Given the description of an element on the screen output the (x, y) to click on. 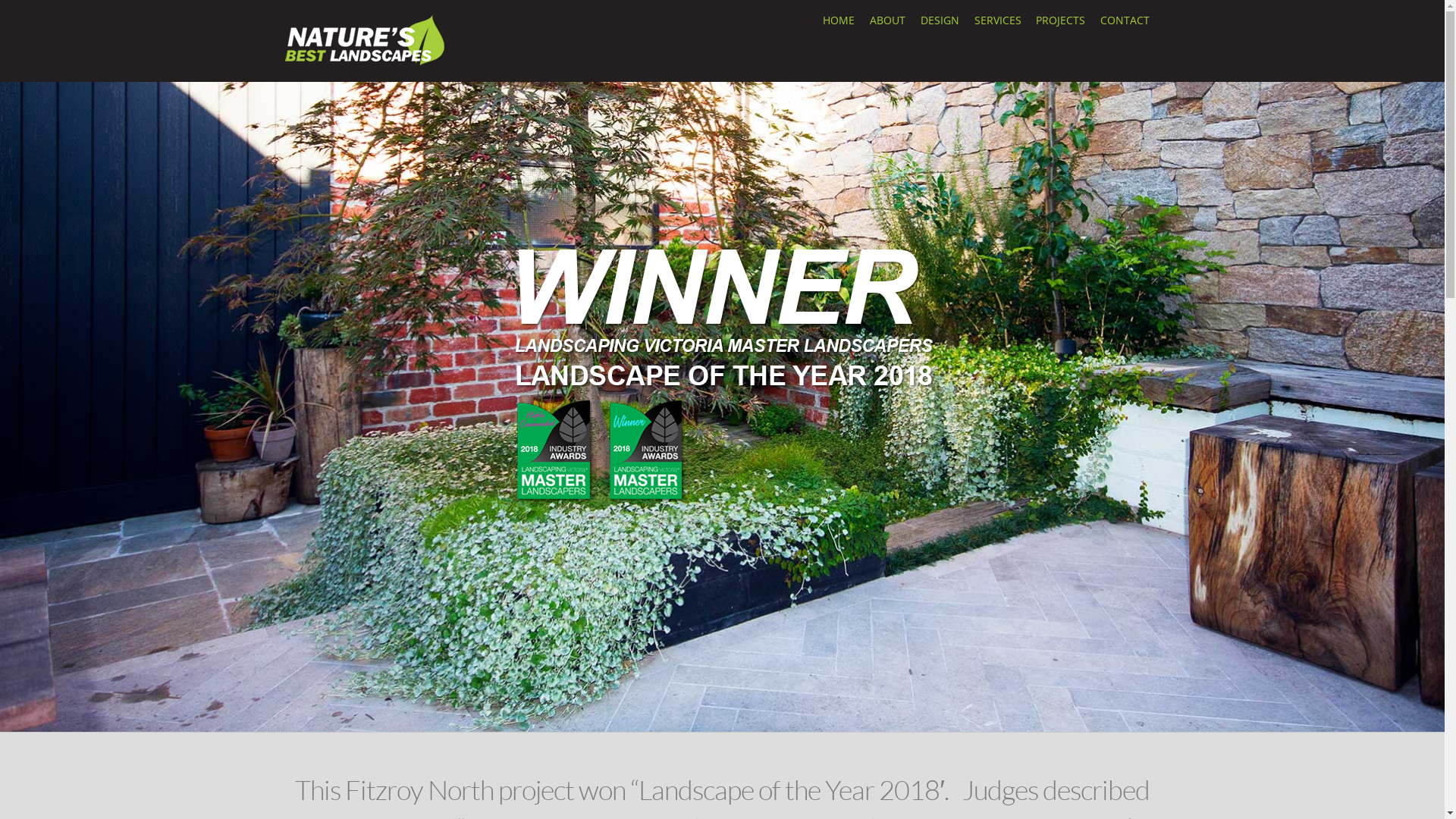
FITZROY Element type: hover (721, 370)
ABOUT Element type: text (887, 20)
logo Element type: hover (365, 38)
Natures Best Landscapes Element type: hover (365, 60)
SERVICES Element type: text (997, 20)
PROJECTS Element type: text (1060, 20)
HOME Element type: text (838, 20)
CONTACT Element type: text (1125, 20)
DESIGN Element type: text (939, 20)
